Given the description of an element on the screen output the (x, y) to click on. 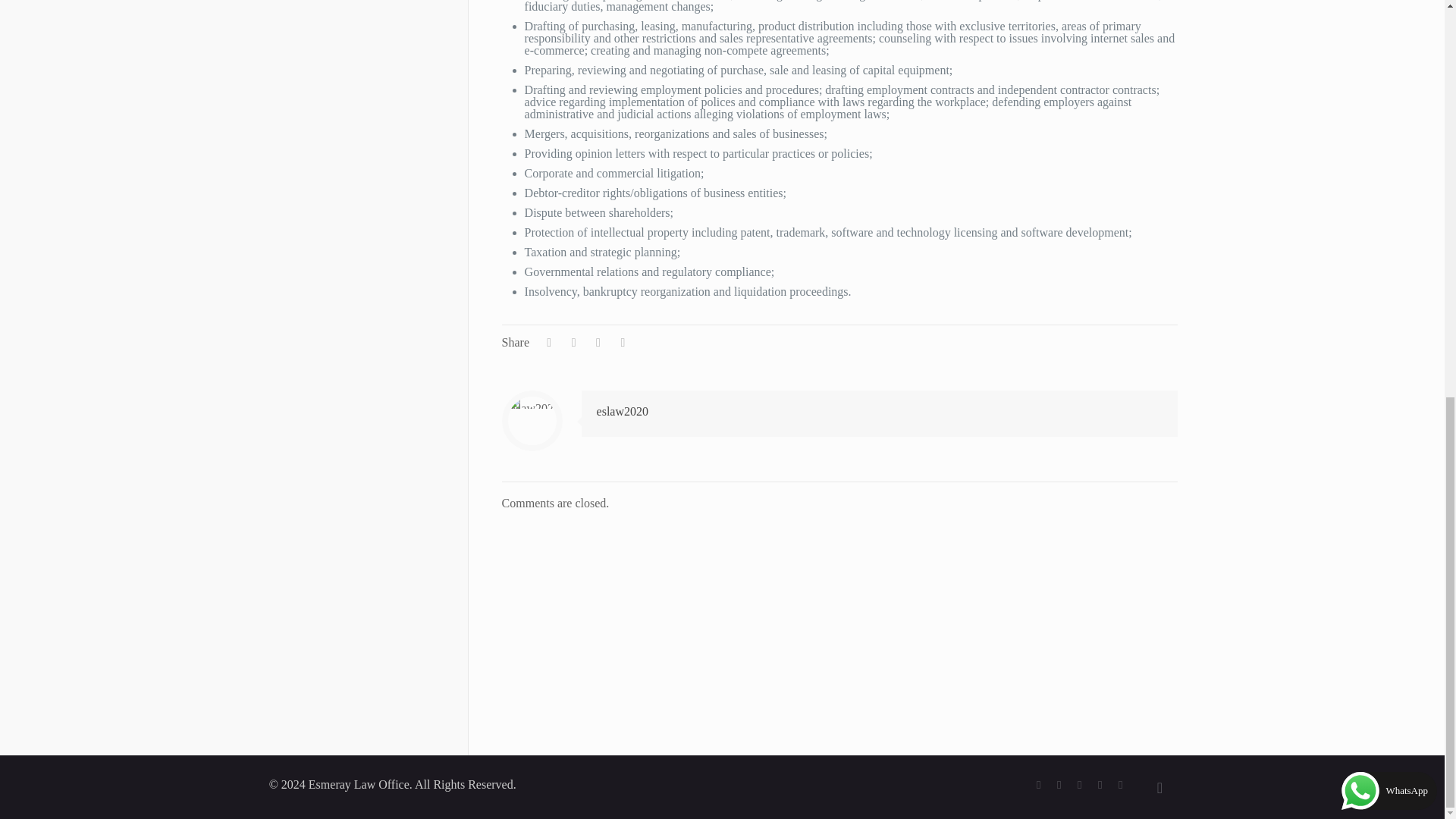
LinkedIn (1100, 784)
Facebook (1059, 784)
Twitter (1079, 784)
Skype (1038, 784)
Instagram (1120, 784)
